Given the description of an element on the screen output the (x, y) to click on. 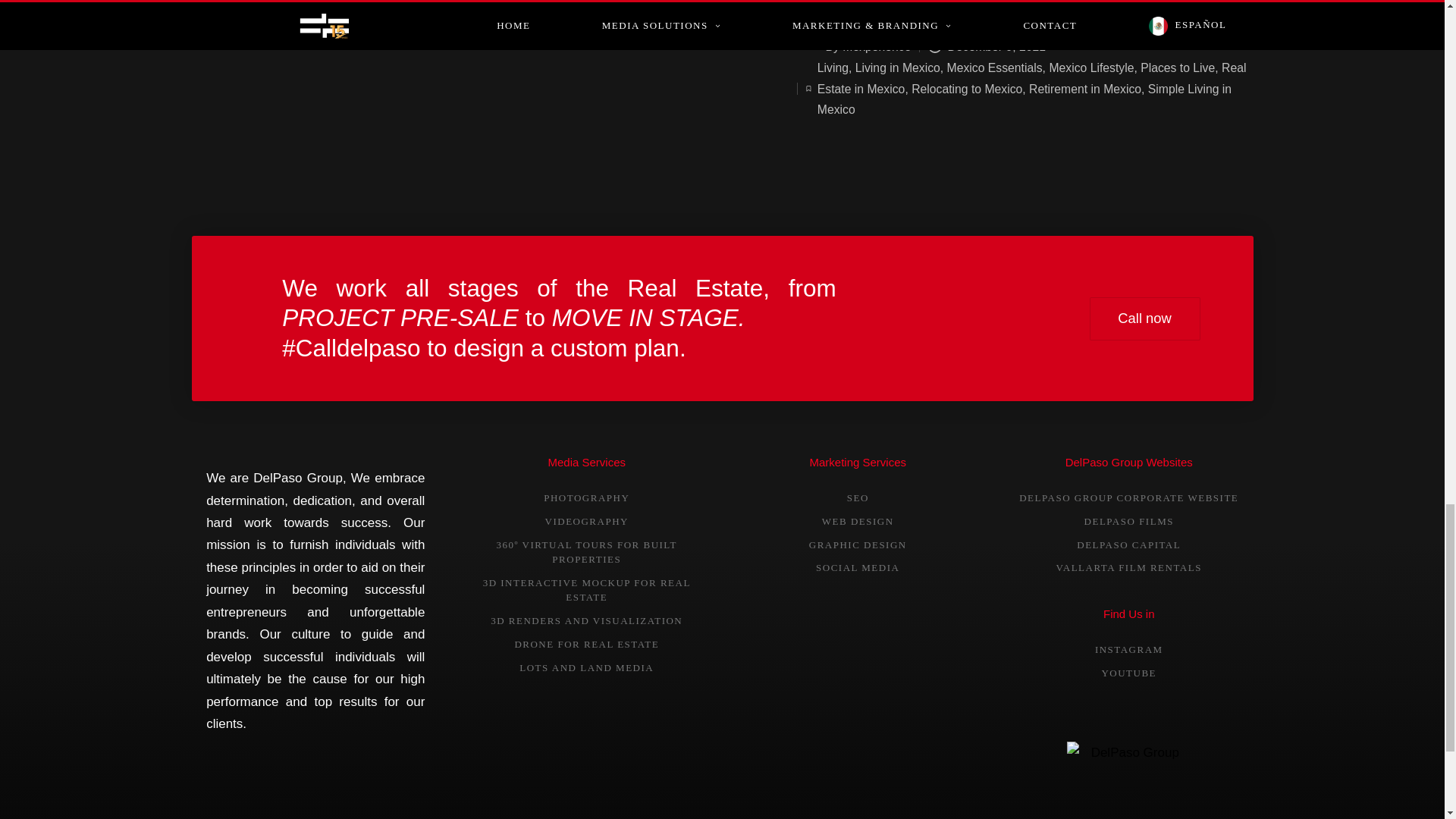
View all posts by Mexperience (877, 46)
